Given the description of an element on the screen output the (x, y) to click on. 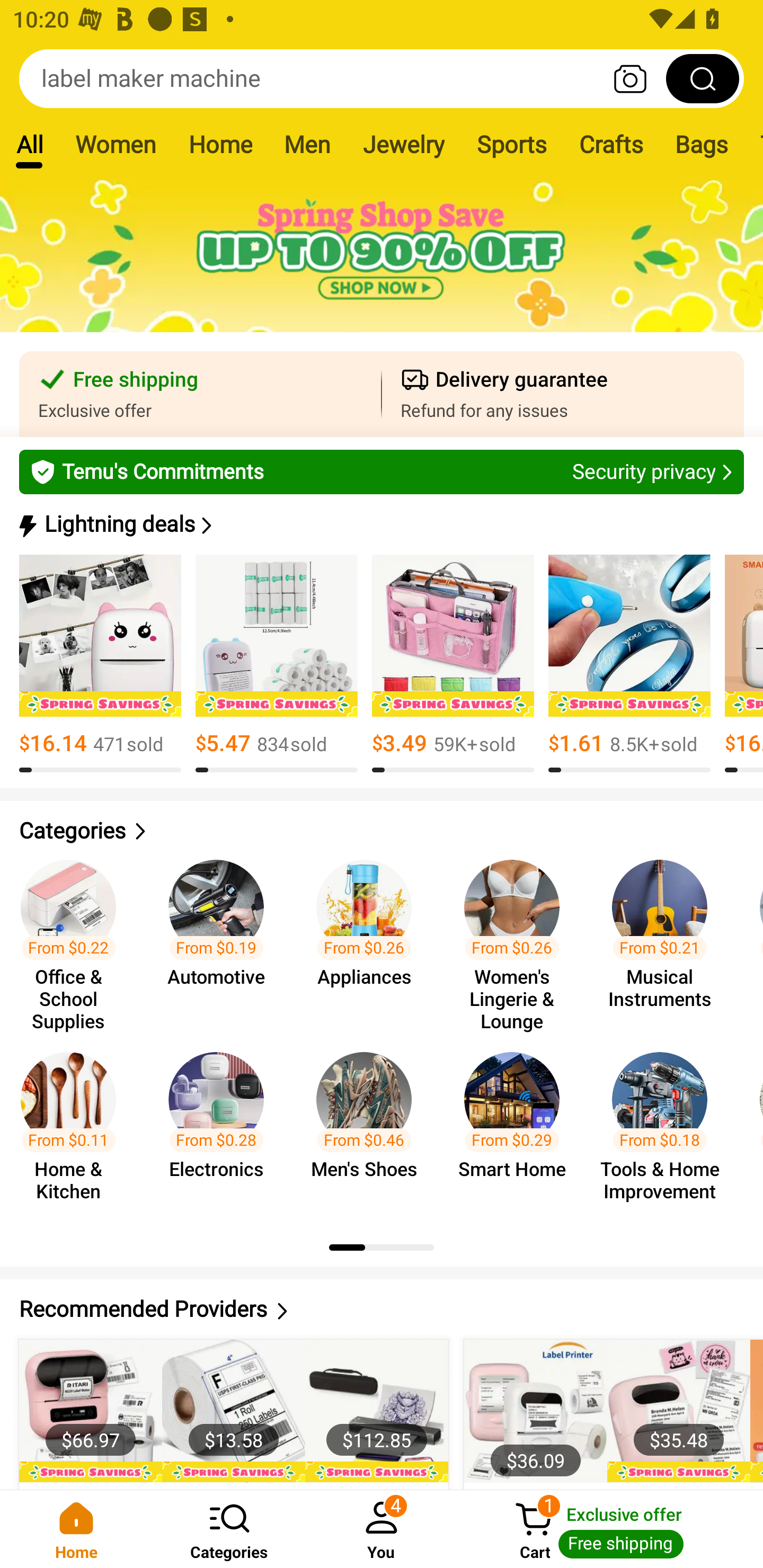
label maker machine (381, 78)
All (29, 144)
Women (115, 144)
Home (219, 144)
Men (306, 144)
Jewelry (403, 144)
Sports (511, 144)
Crafts (611, 144)
Bags (701, 144)
Free shipping Exclusive offer (200, 394)
Delivery guarantee Refund for any issues (562, 394)
Temu's Commitments (381, 471)
Lightning deals (379, 524)
$16.14 471￼sold 8.0 (100, 664)
$5.47 834￼sold 8.0 (276, 664)
$3.49 59K+￼sold 8.0 (453, 664)
$1.61 8.5K+￼sold 8.0 (629, 664)
Categories (381, 830)
From $0.22 Office & School Supplies (74, 936)
From $0.19 Automotive (222, 936)
From $0.26 Appliances (369, 936)
From $0.26 Women's Lingerie & Lounge (517, 936)
From $0.21 Musical Instruments (665, 936)
From $0.11 Home & Kitchen (74, 1128)
From $0.28 Electronics (222, 1128)
From $0.46 Men's Shoes (369, 1128)
From $0.29 Smart Home (517, 1128)
From $0.18 Tools & Home Improvement (665, 1128)
Recommended Providers (381, 1309)
Home (76, 1528)
Categories (228, 1528)
You 4 You (381, 1528)
Cart 1 Cart Exclusive offer (610, 1528)
